Given the description of an element on the screen output the (x, y) to click on. 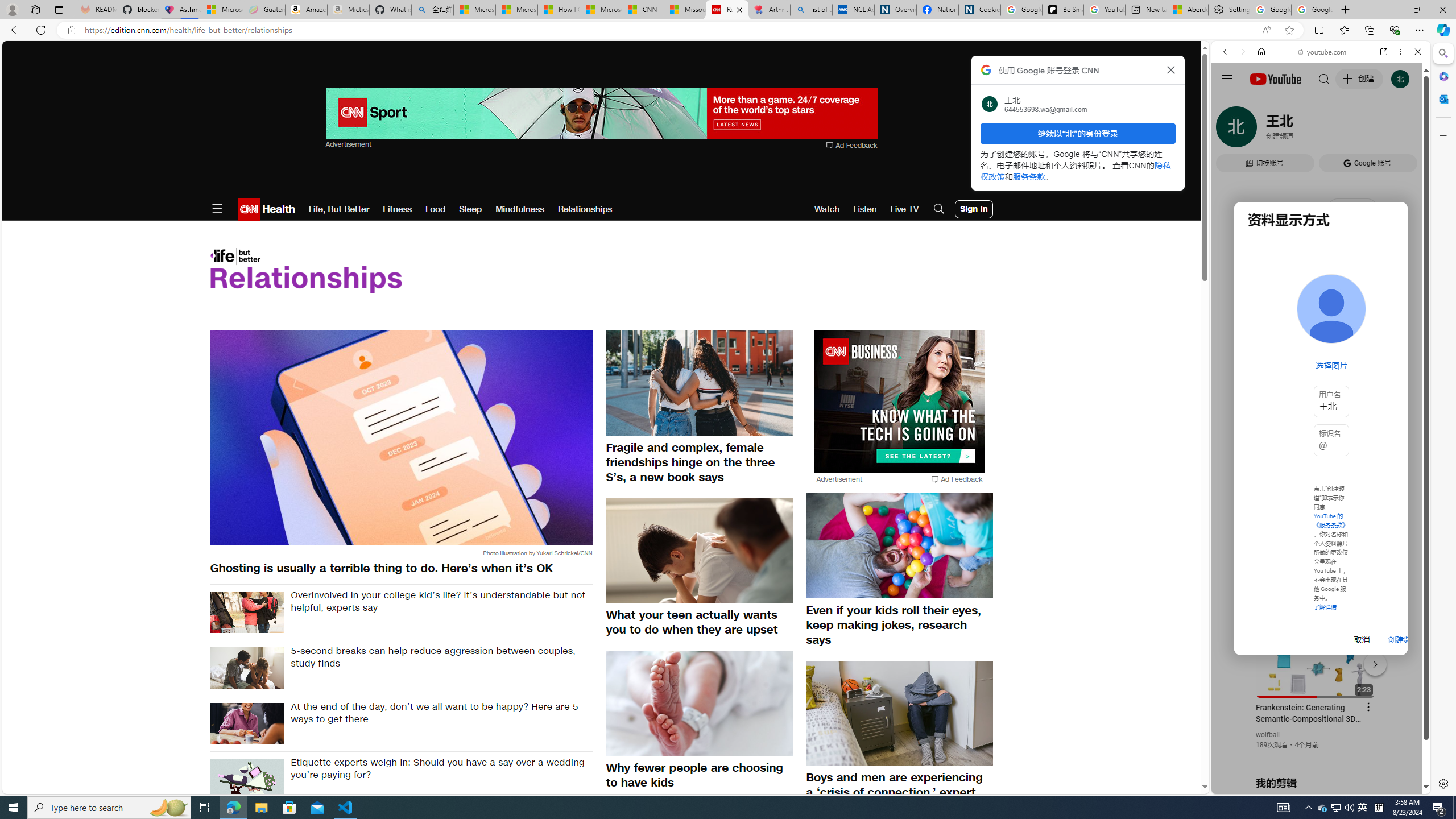
What your teen actually wants you to do when they are upset (699, 622)
Web scope (1230, 102)
This site scope (1259, 102)
CNN - MSN (642, 9)
Asthma Inhalers: Names and Types (179, 9)
